Given the description of an element on the screen output the (x, y) to click on. 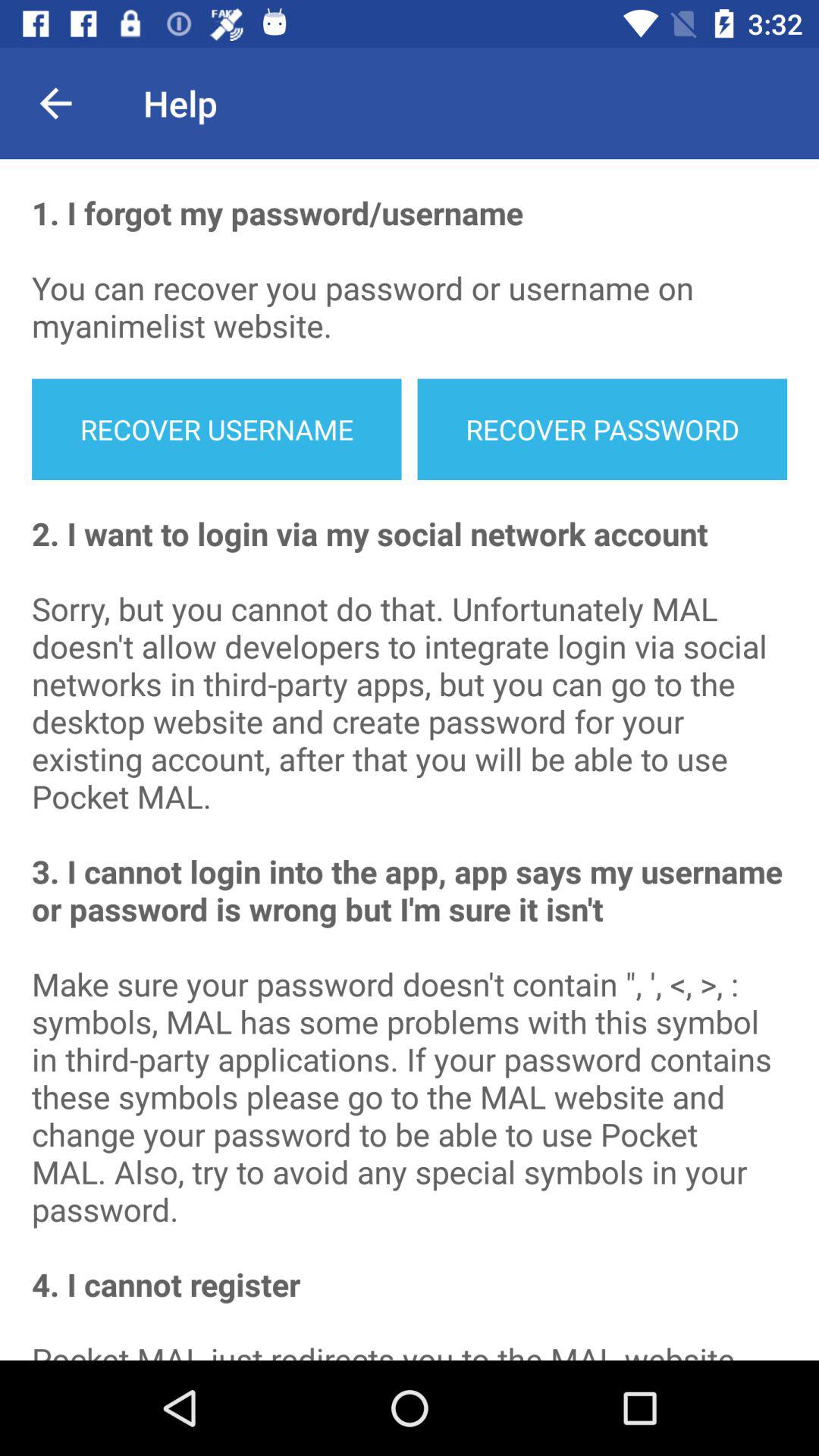
turn on the item to the left of the help item (55, 103)
